Given the description of an element on the screen output the (x, y) to click on. 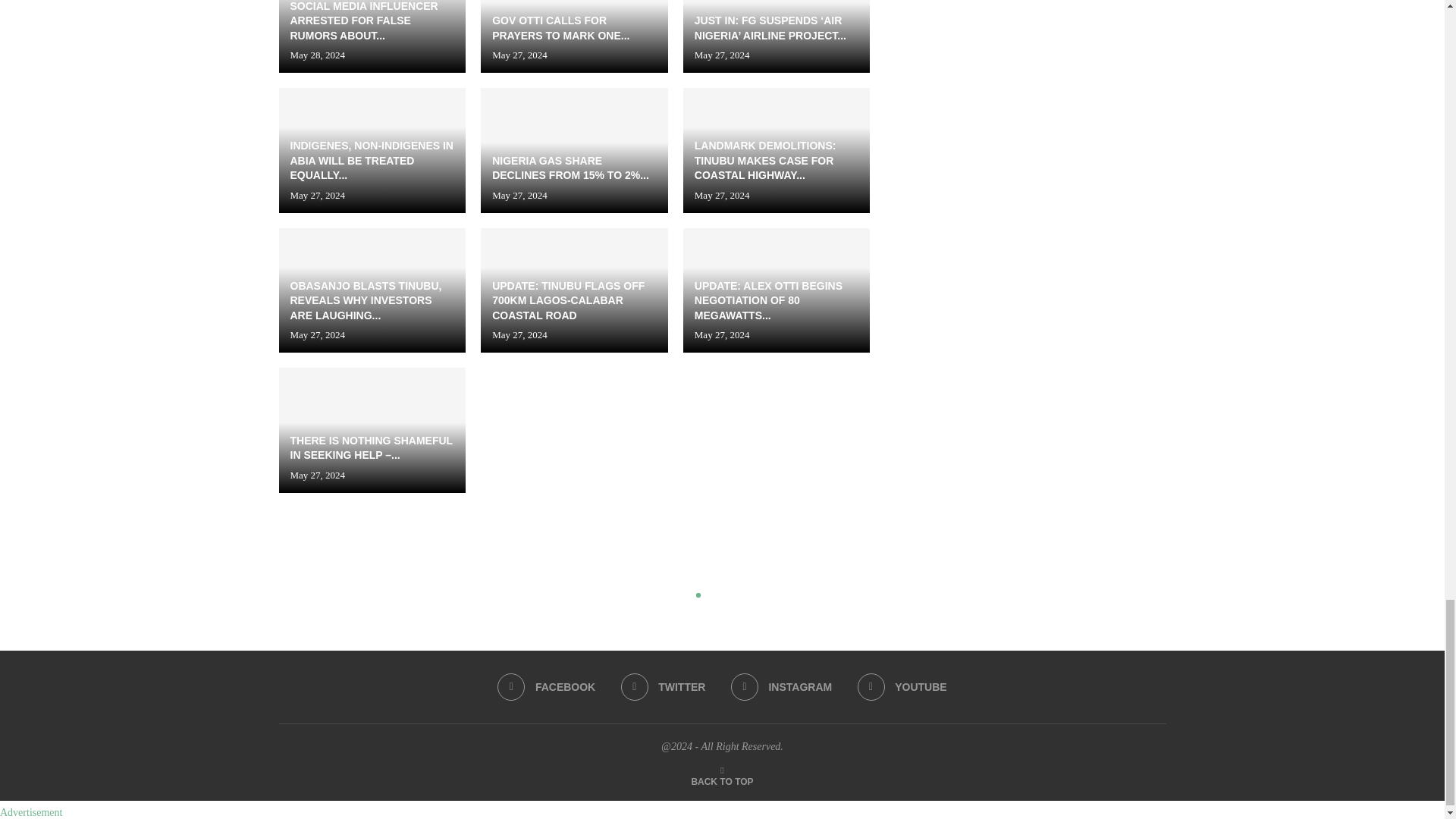
UPDATE: Tinubu Flags Off 700km Lagos-Calabar Coastal Road (574, 290)
